Given the description of an element on the screen output the (x, y) to click on. 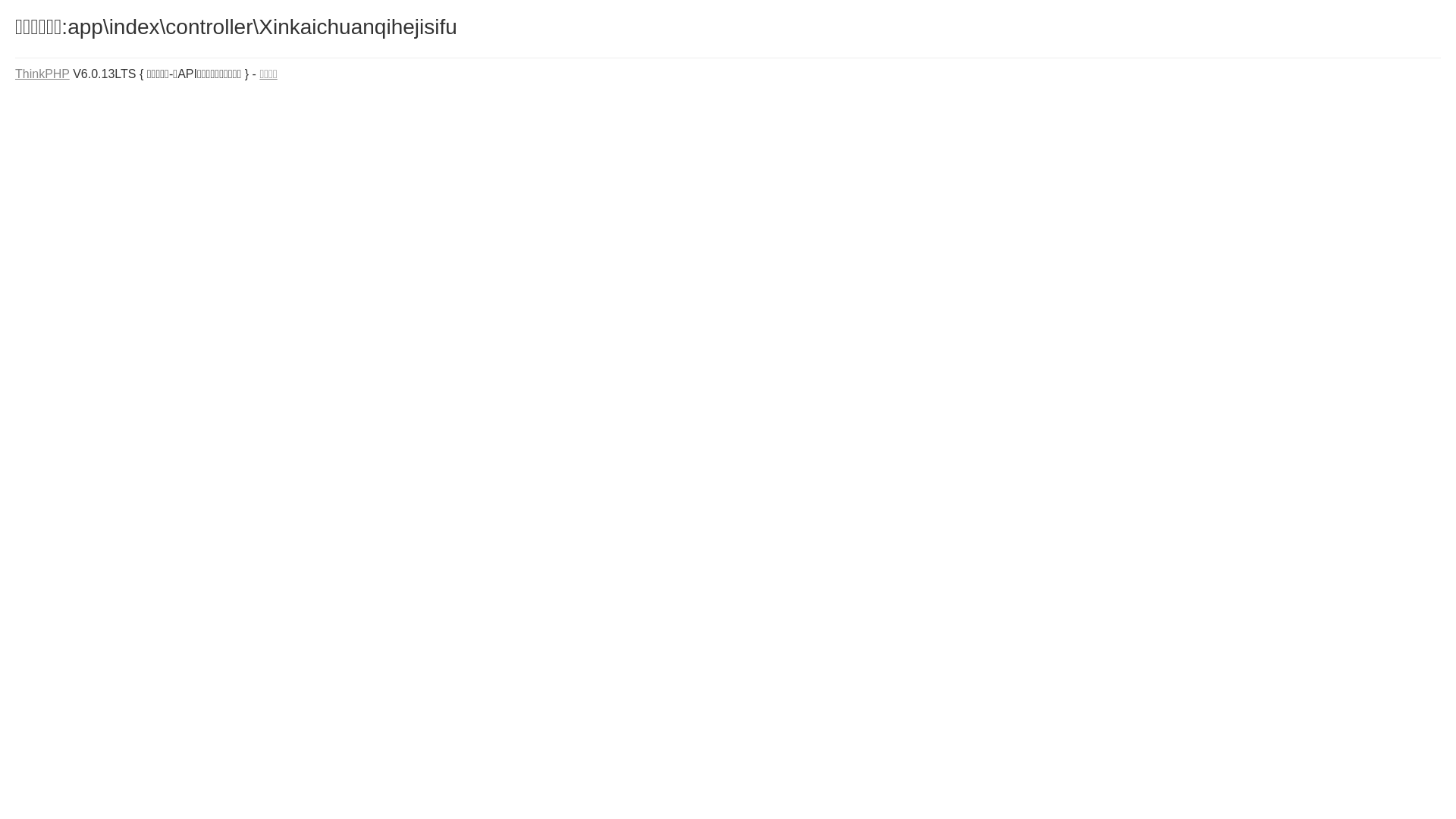
ThinkPHP Element type: text (42, 73)
